Given the description of an element on the screen output the (x, y) to click on. 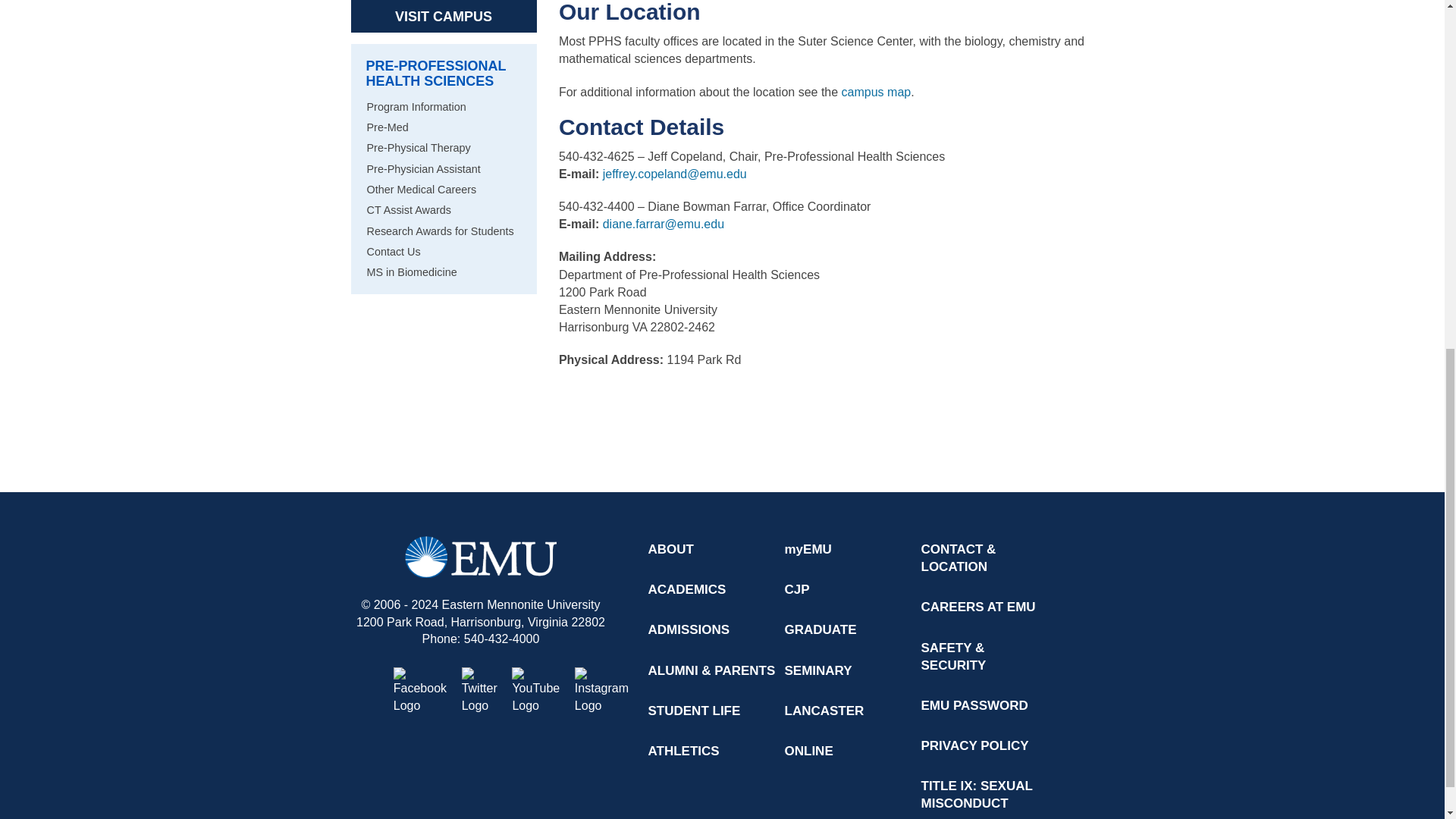
About (674, 549)
Admissions (691, 629)
Academics (690, 589)
